Given the description of an element on the screen output the (x, y) to click on. 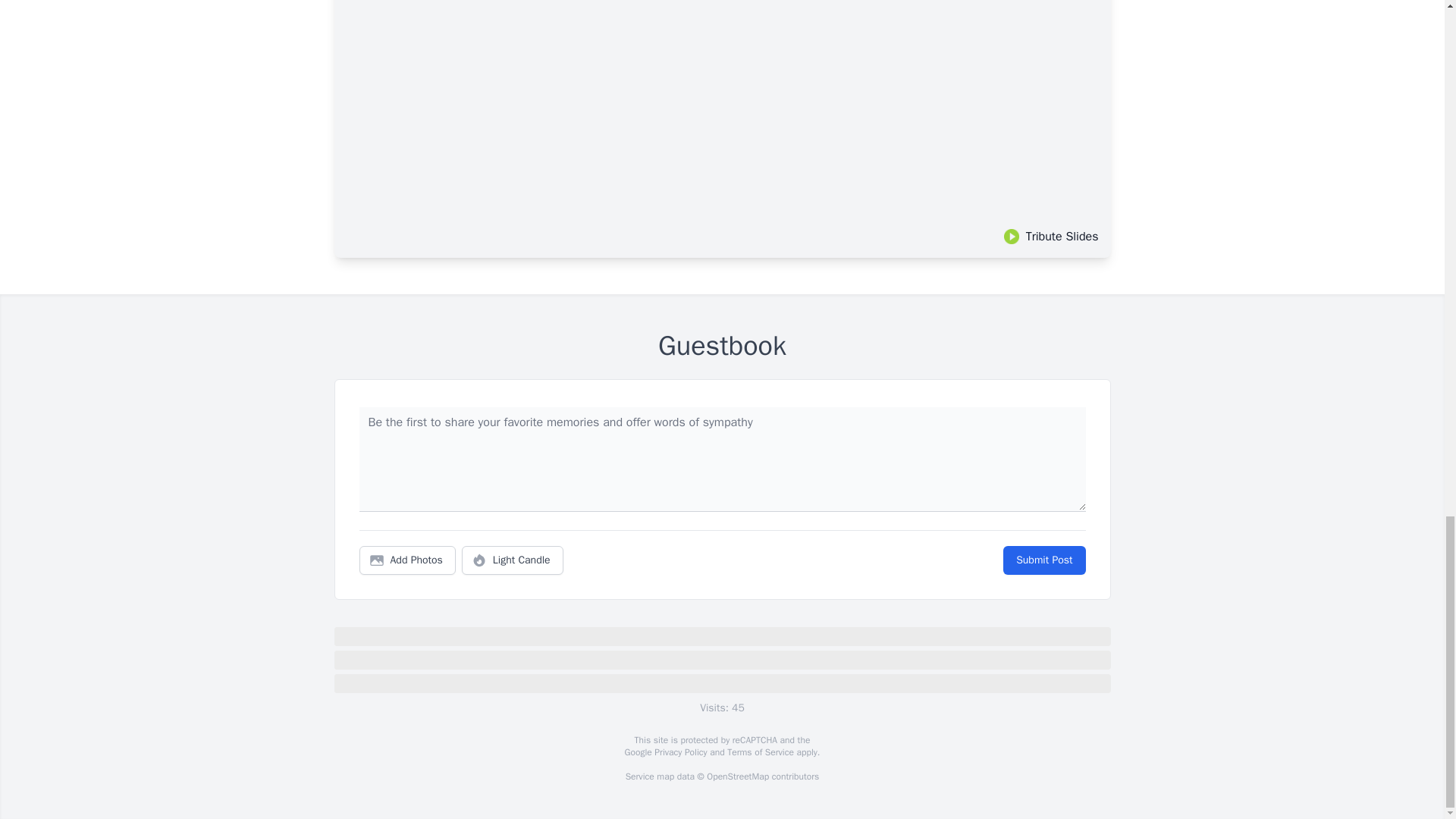
Privacy Policy (679, 752)
Light Candle (512, 560)
Add Photos (407, 560)
Terms of Service (759, 752)
OpenStreetMap (737, 776)
Submit Post (1043, 560)
